Given the description of an element on the screen output the (x, y) to click on. 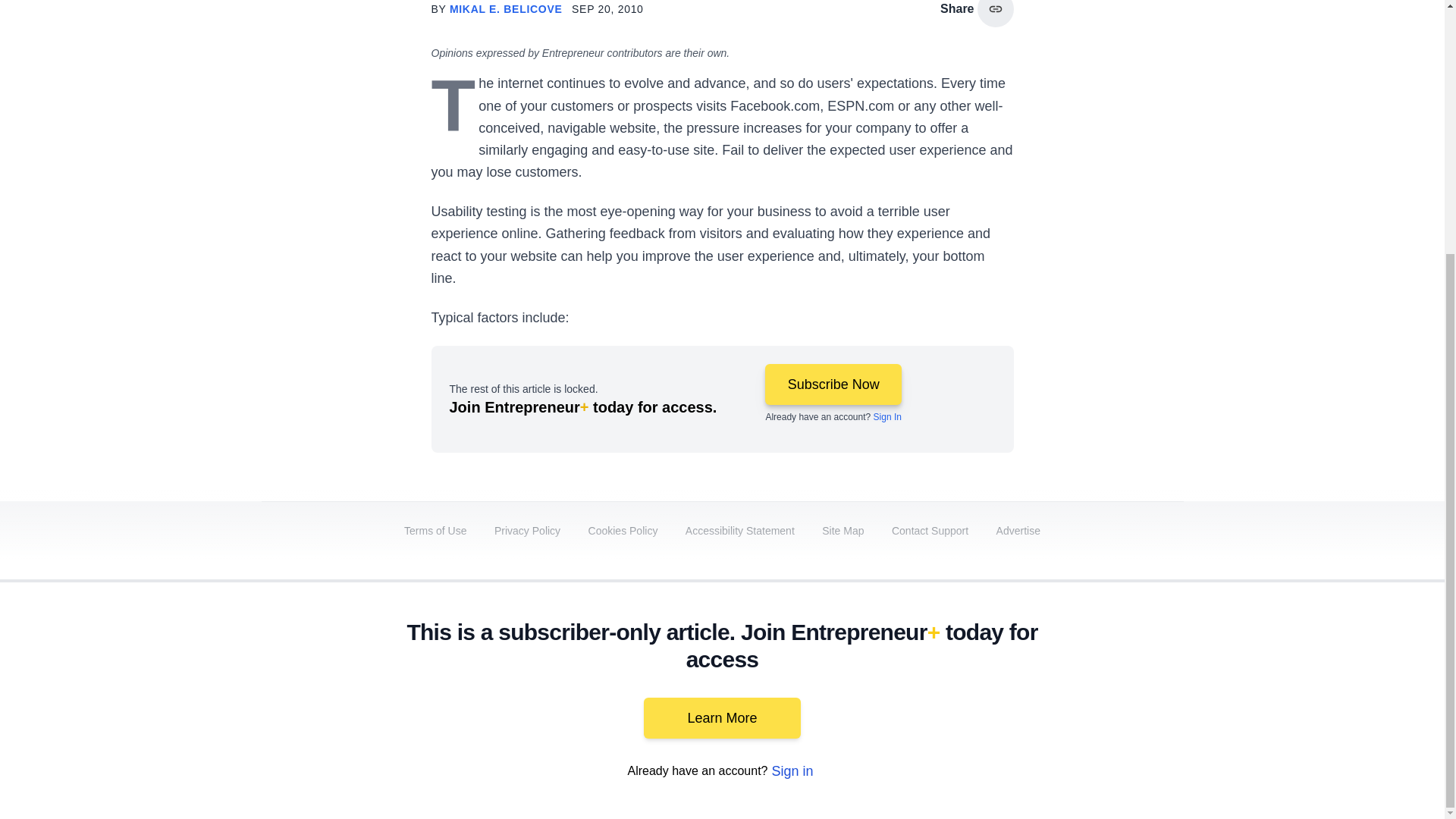
linkedin (952, 691)
copy (994, 13)
tiktok (1079, 691)
facebook (866, 691)
rss (1164, 691)
twitter (909, 691)
youtube (994, 691)
snapchat (1121, 691)
instagram (1037, 691)
